Given the description of an element on the screen output the (x, y) to click on. 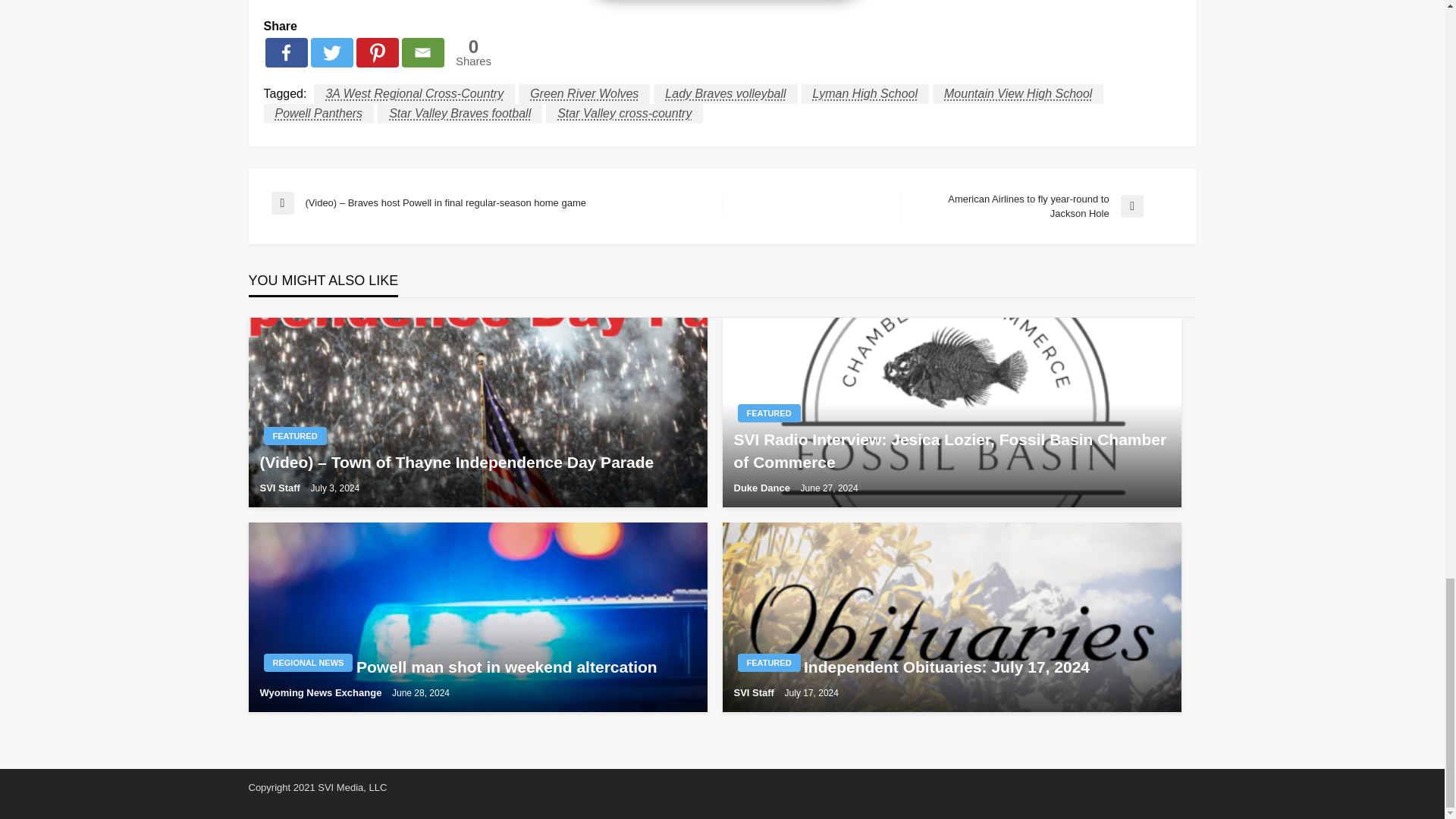
Email (422, 52)
Total Shares (473, 52)
Facebook (285, 52)
Twitter (332, 52)
Pinterest (377, 52)
